Given the description of an element on the screen output the (x, y) to click on. 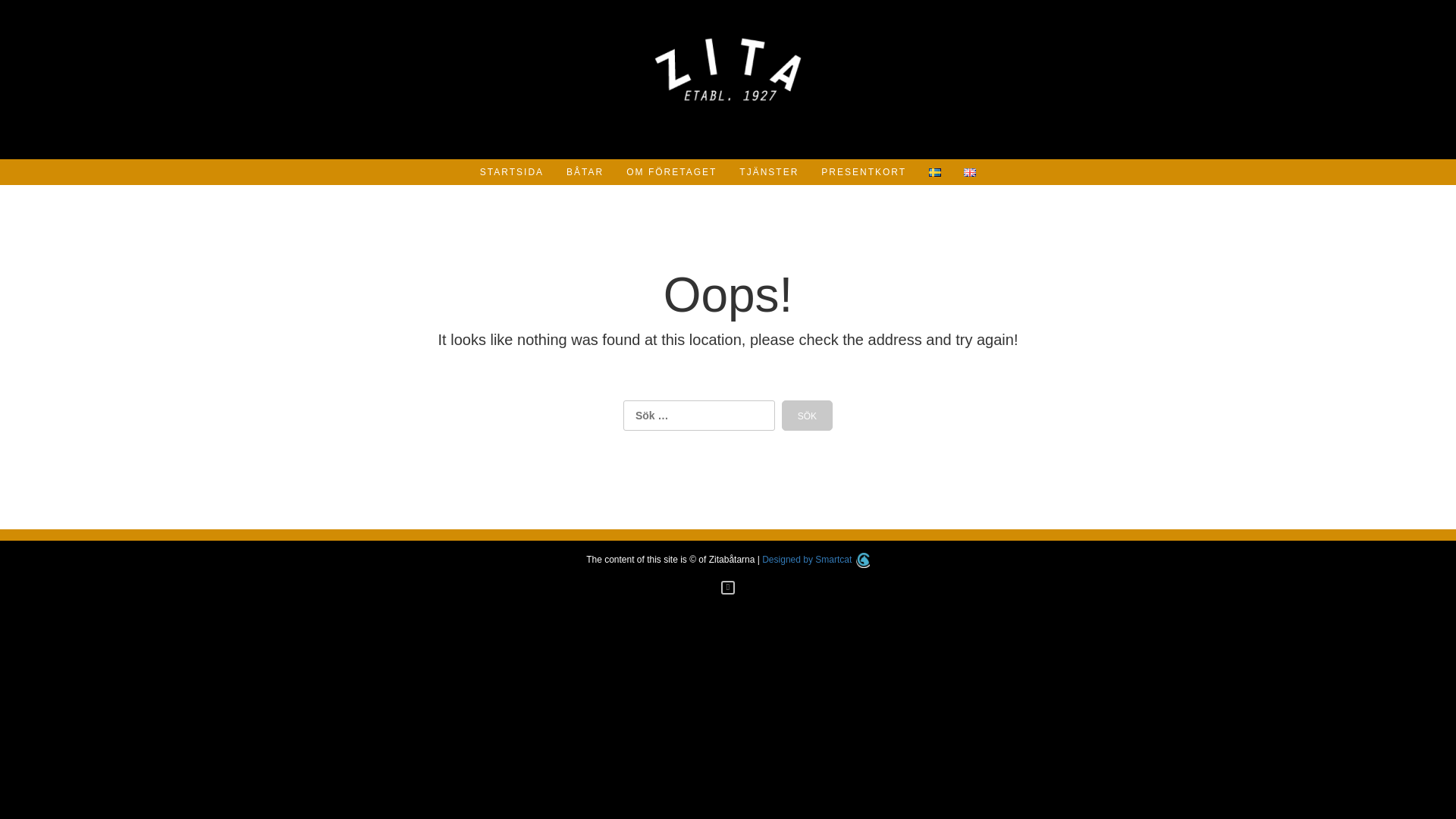
Svenska (934, 172)
English (969, 172)
STARTSIDA (511, 171)
